Given the description of an element on the screen output the (x, y) to click on. 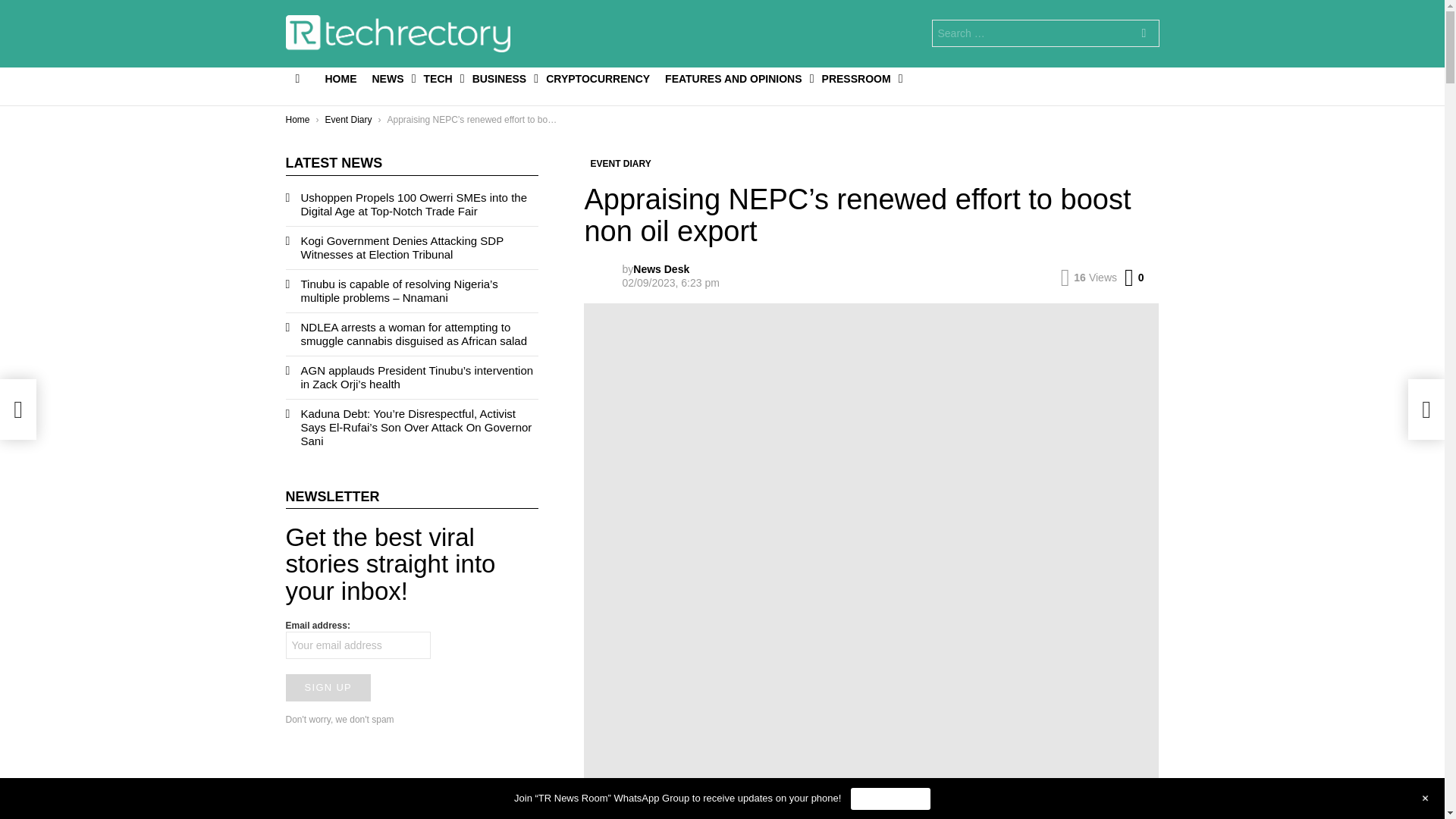
FEATURES AND OPINIONS (735, 78)
BUSINESS (501, 78)
CRYPTOCURRENCY (598, 78)
SEARCH (1143, 34)
Search for: (1044, 32)
NEWS (389, 78)
Menu (296, 78)
TECH (439, 78)
HOME (340, 78)
Posts by News Desk (660, 268)
PRESSROOM (857, 78)
Home (296, 119)
Sign up (328, 687)
